Given the description of an element on the screen output the (x, y) to click on. 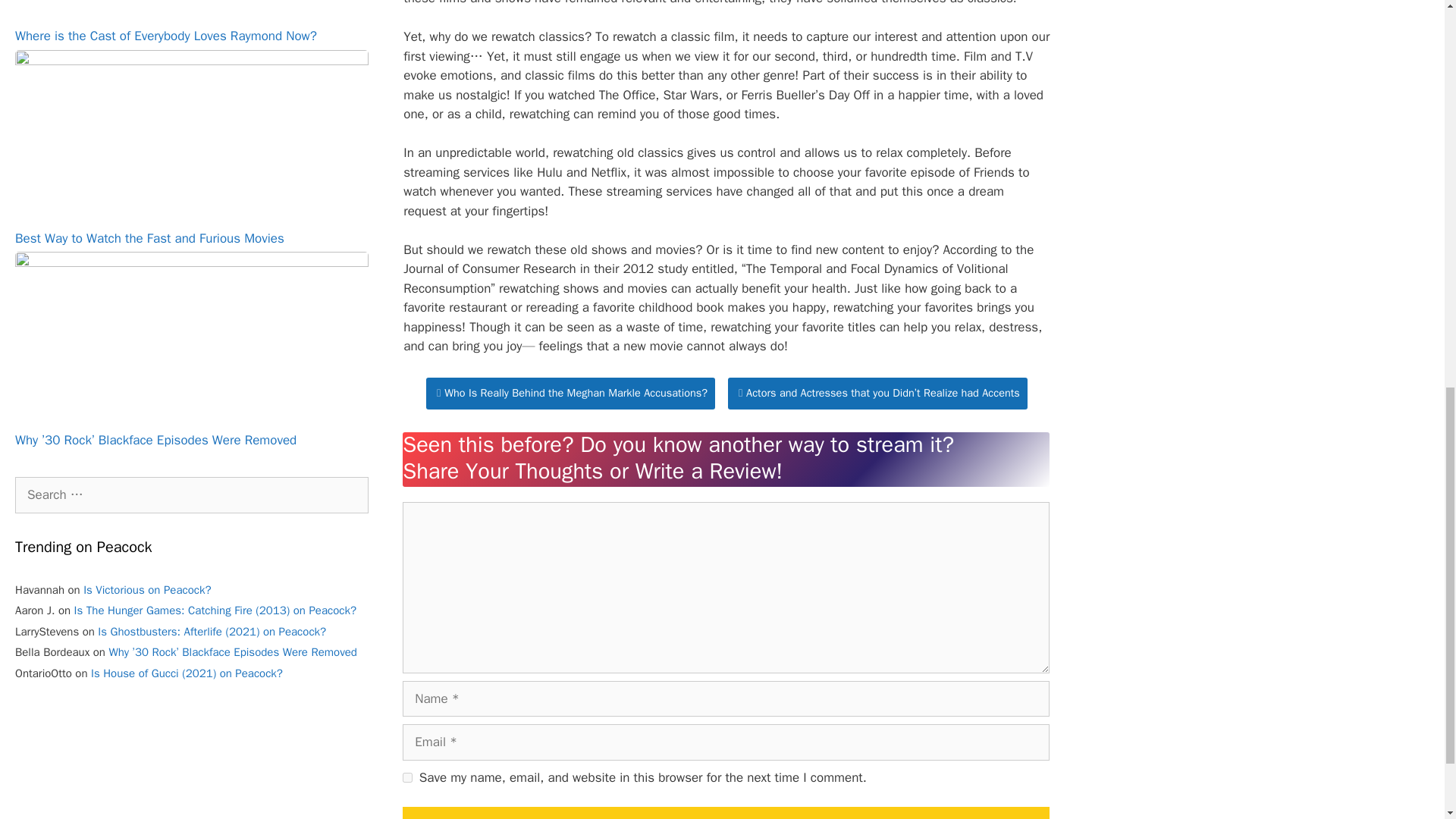
Search for: (191, 494)
yes (407, 777)
Post a Review or Comment (726, 812)
Scroll back to top (1406, 720)
